Given the description of an element on the screen output the (x, y) to click on. 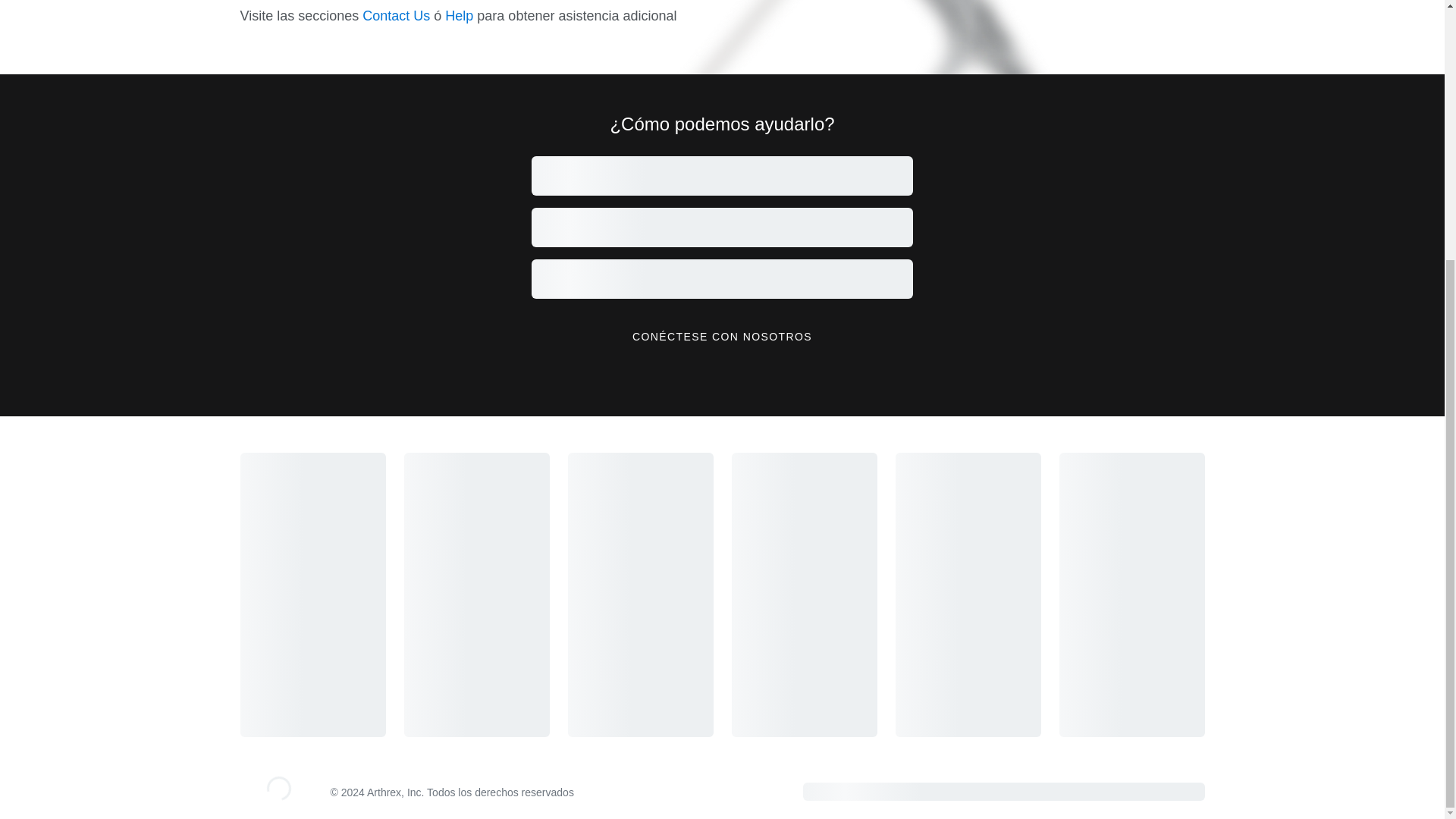
Help (459, 15)
Contact Us (395, 15)
Contact Us (395, 15)
Help (459, 15)
